Given the description of an element on the screen output the (x, y) to click on. 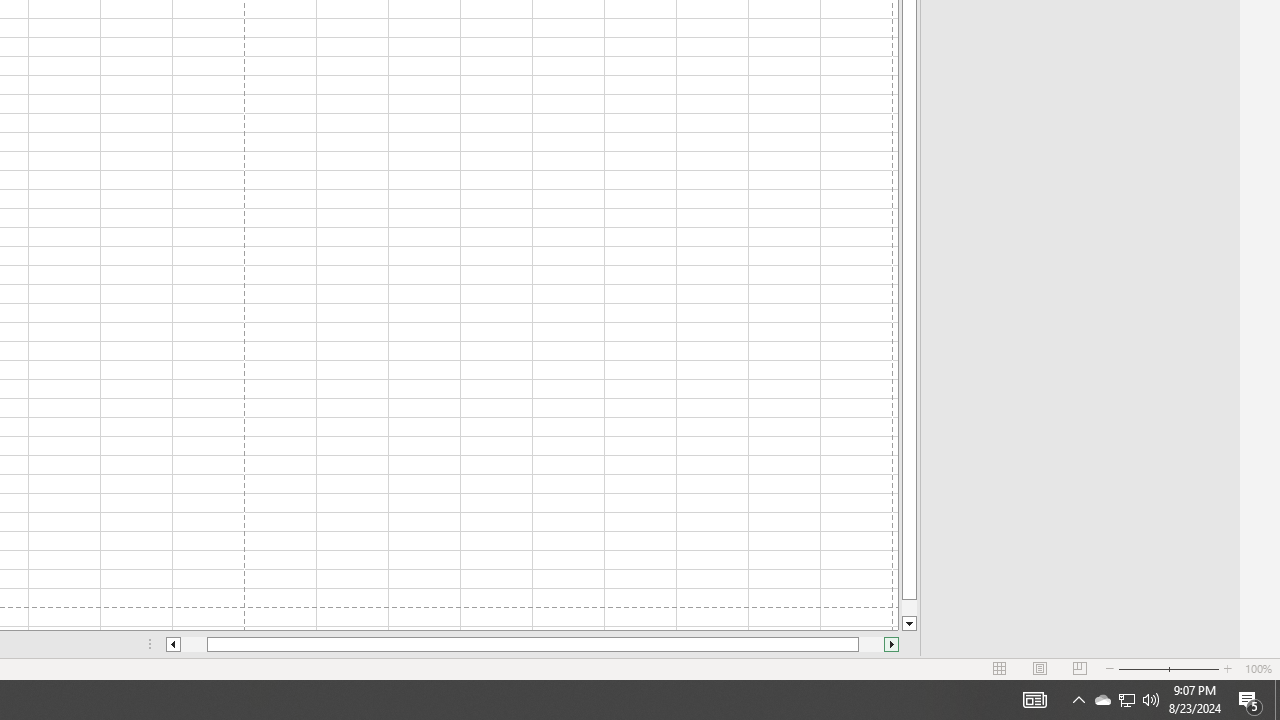
Page left (193, 644)
